Given the description of an element on the screen output the (x, y) to click on. 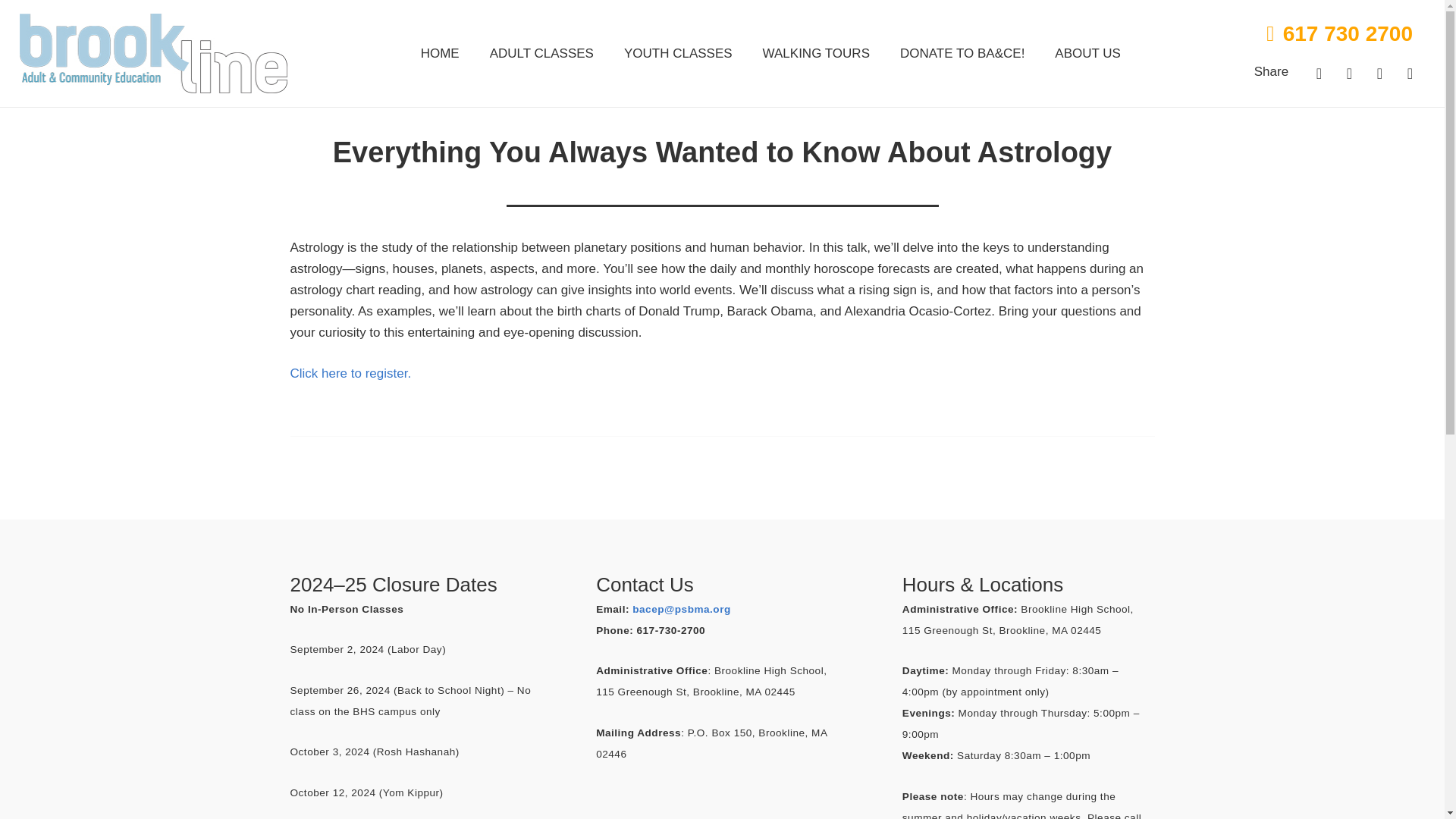
Facebook (1319, 73)
ABOUT US (1087, 53)
Yelp (1379, 73)
Email (1409, 73)
Click here to register. (349, 373)
HOME (440, 53)
YOUTH CLASSES (678, 53)
Twitter (1350, 73)
617 730 2700 (1339, 33)
Share (1270, 71)
ADULT CLASSES (541, 53)
WALKING TOURS (816, 53)
